Given the description of an element on the screen output the (x, y) to click on. 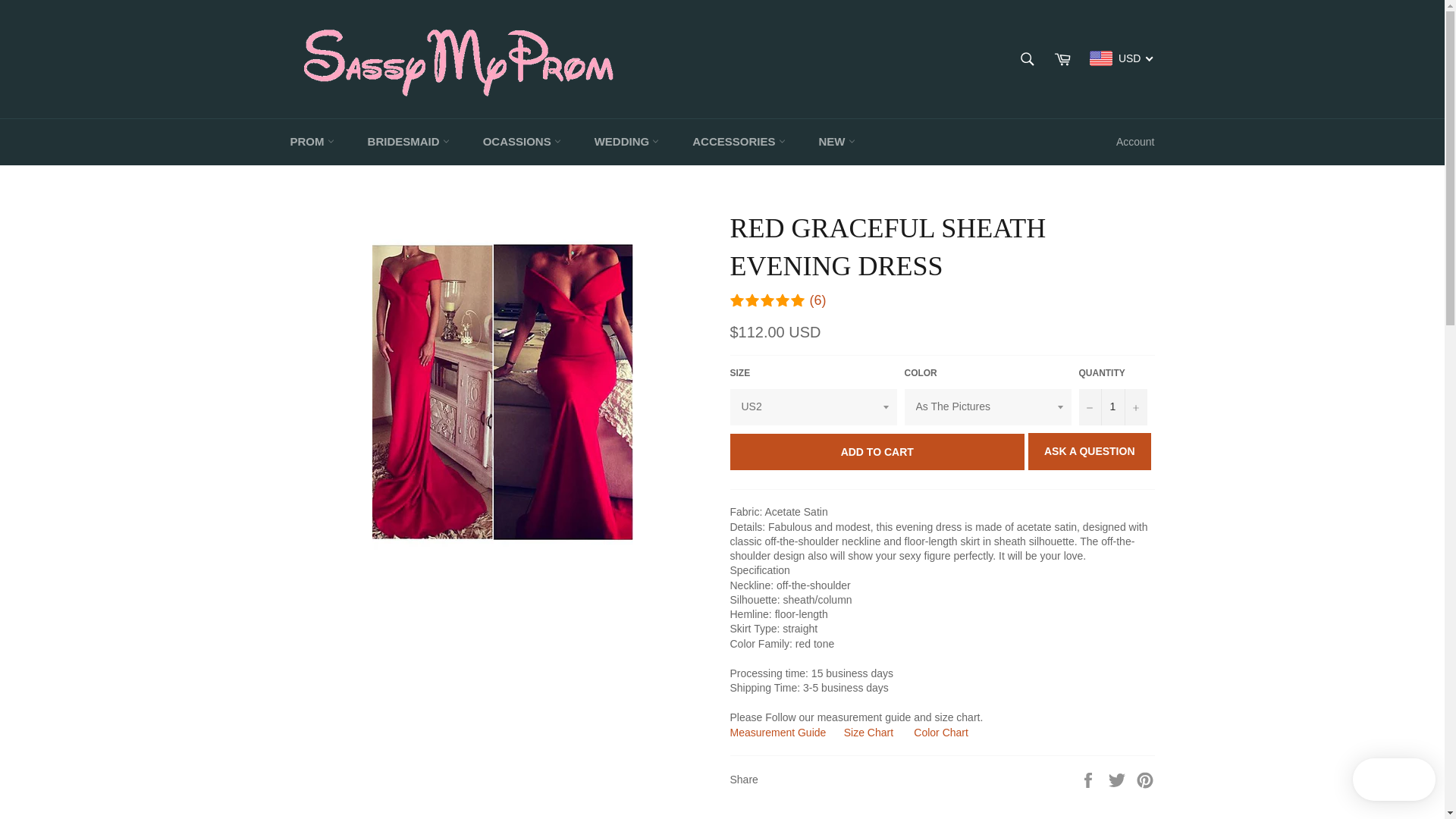
Tweet on Twitter (868, 732)
1 (1118, 778)
Pin on Pinterest (1112, 407)
Share on Facebook (1144, 778)
Measurement Guide (1089, 778)
